Given the description of an element on the screen output the (x, y) to click on. 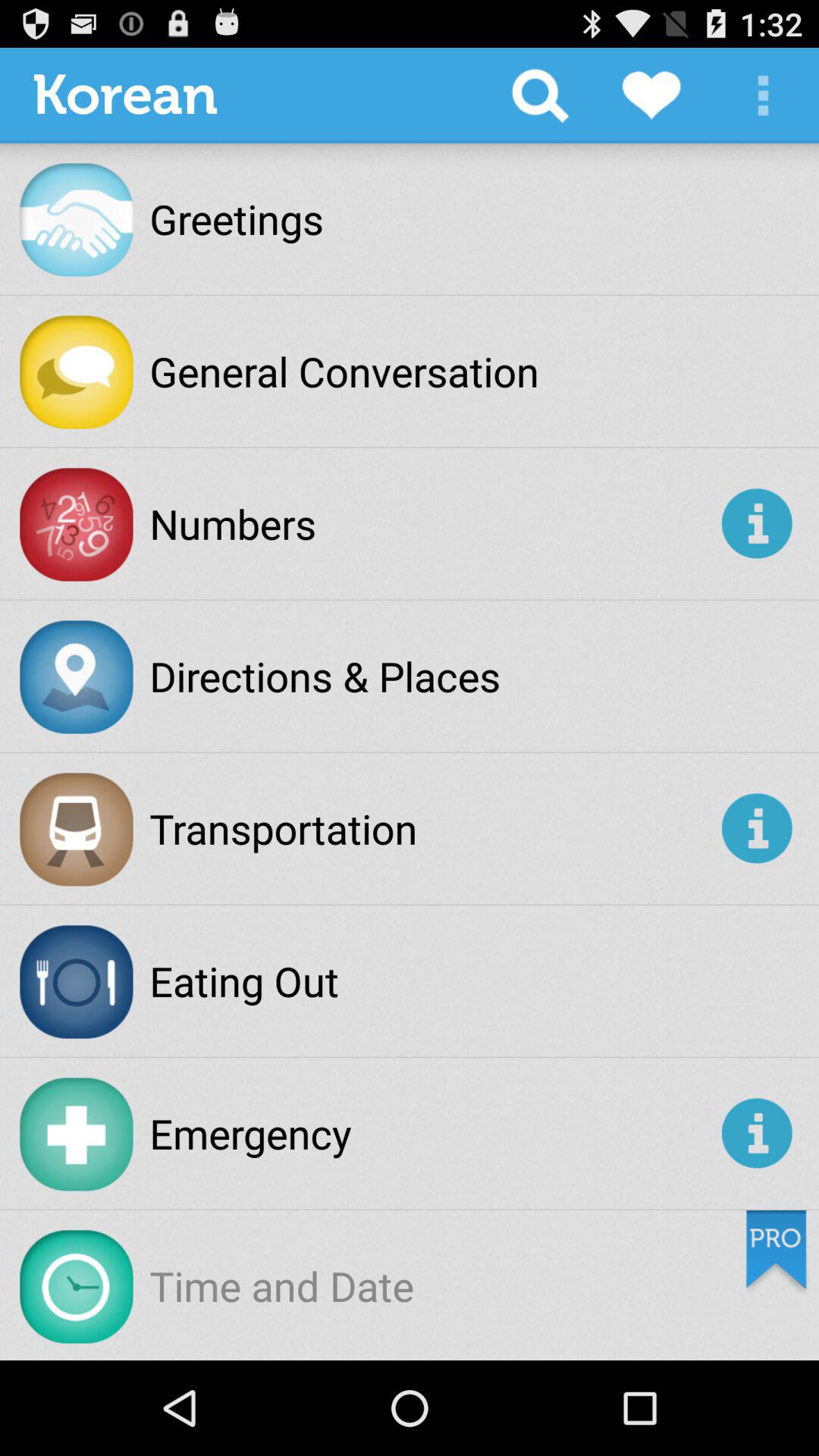
launch the general conversation app (344, 370)
